Given the description of an element on the screen output the (x, y) to click on. 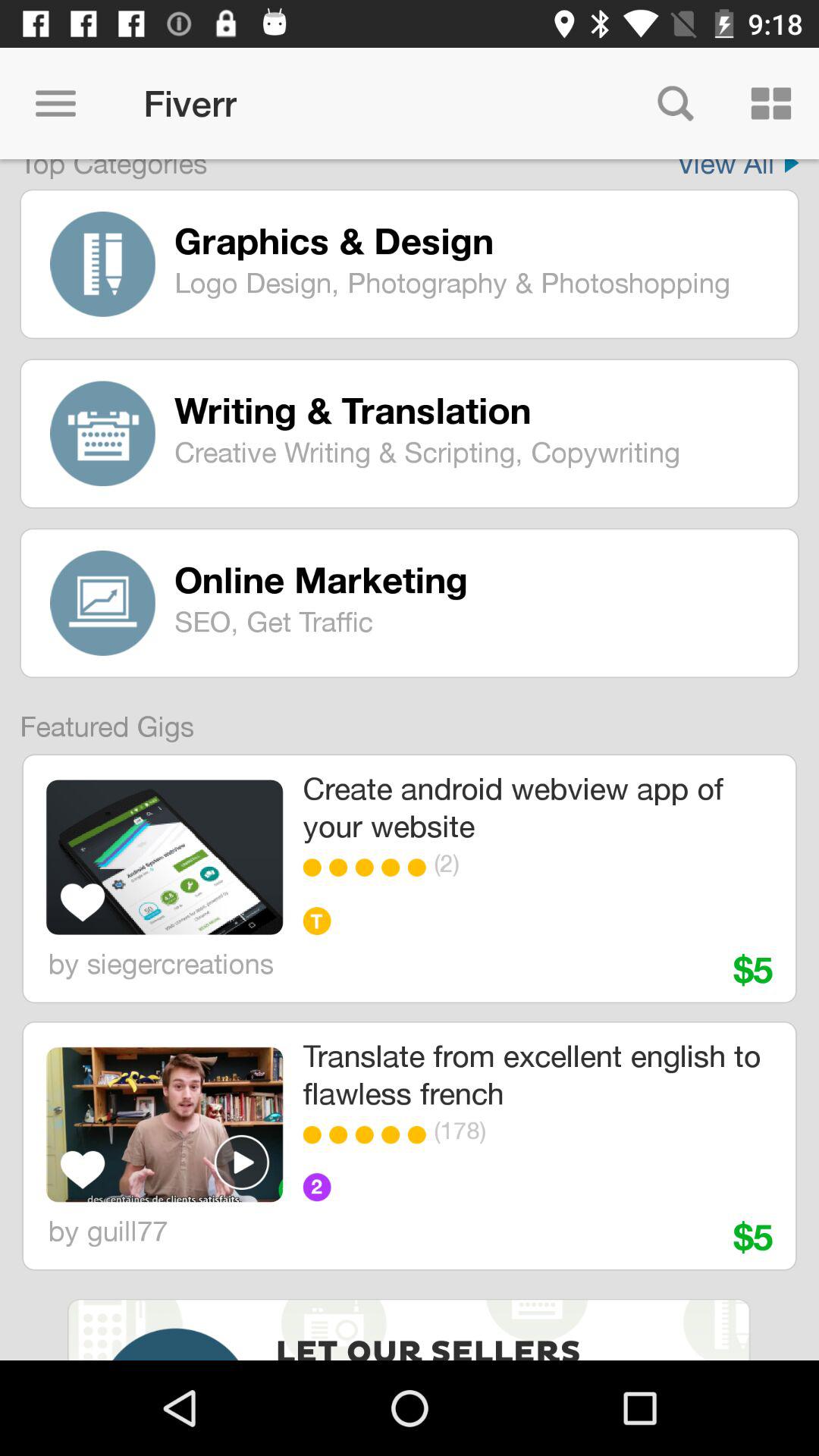
launch item below featured gigs icon (164, 857)
